Given the description of an element on the screen output the (x, y) to click on. 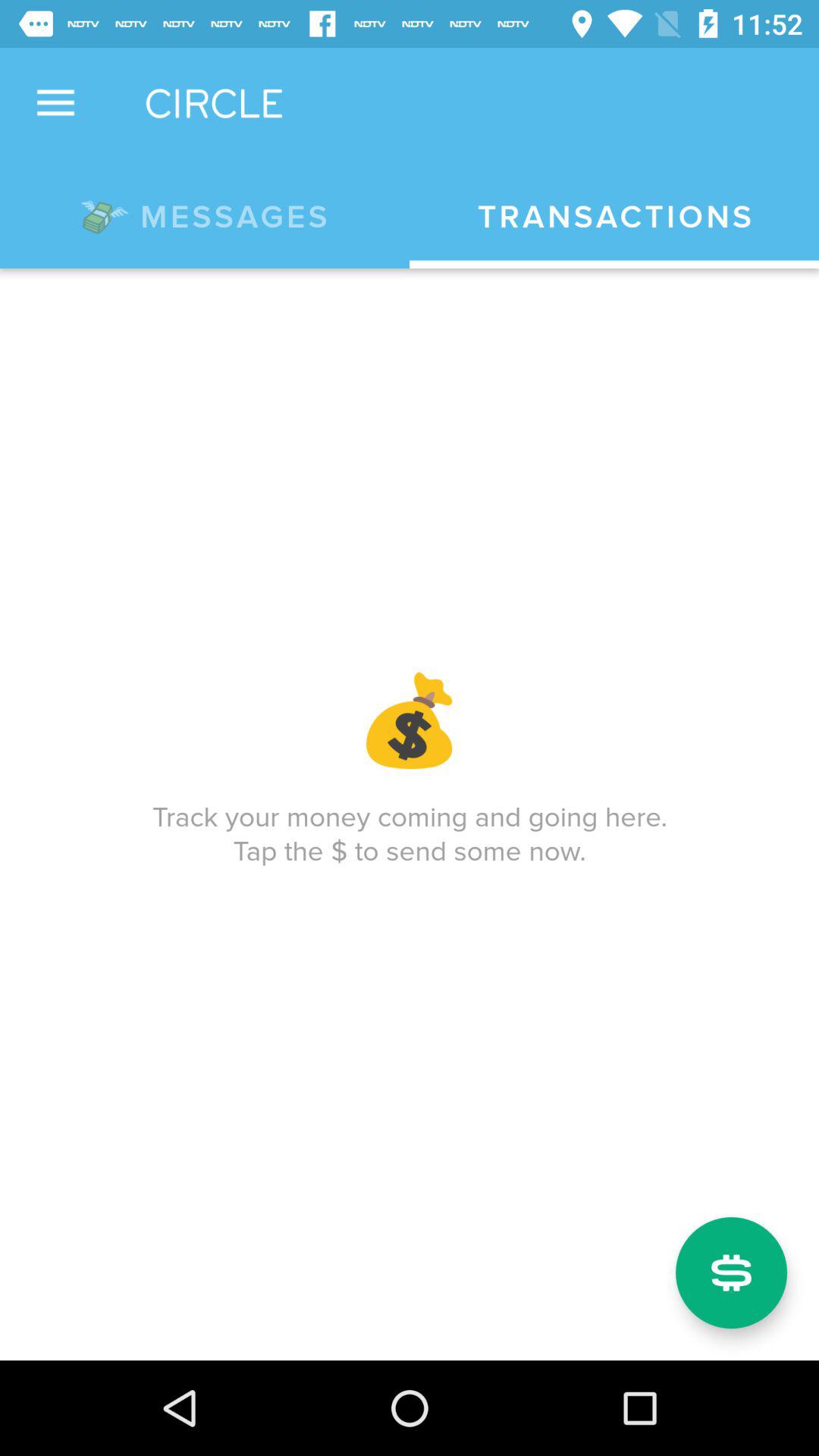
turn on item next to *messages (614, 217)
